Given the description of an element on the screen output the (x, y) to click on. 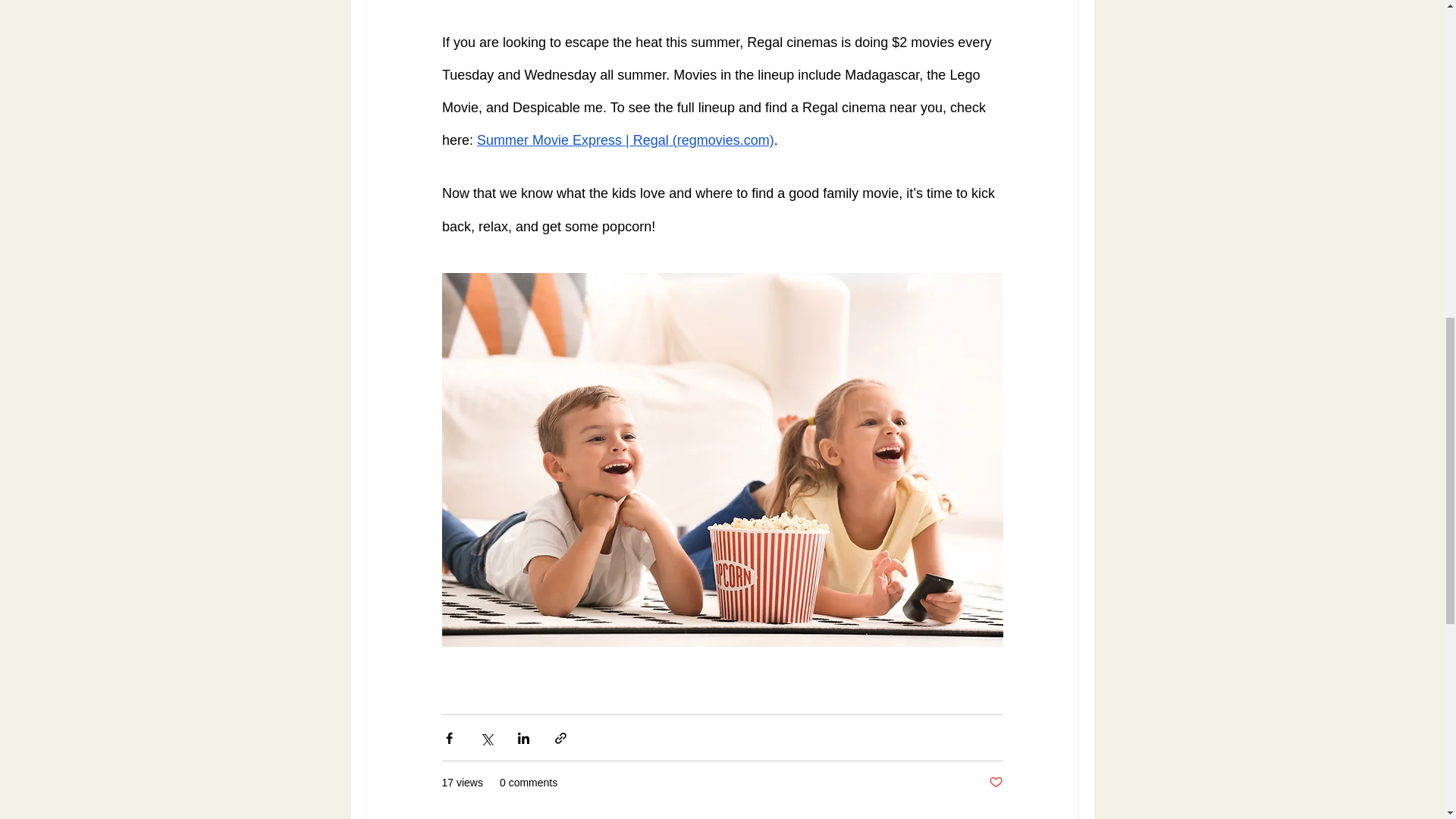
Post not marked as liked (995, 782)
